Given the description of an element on the screen output the (x, y) to click on. 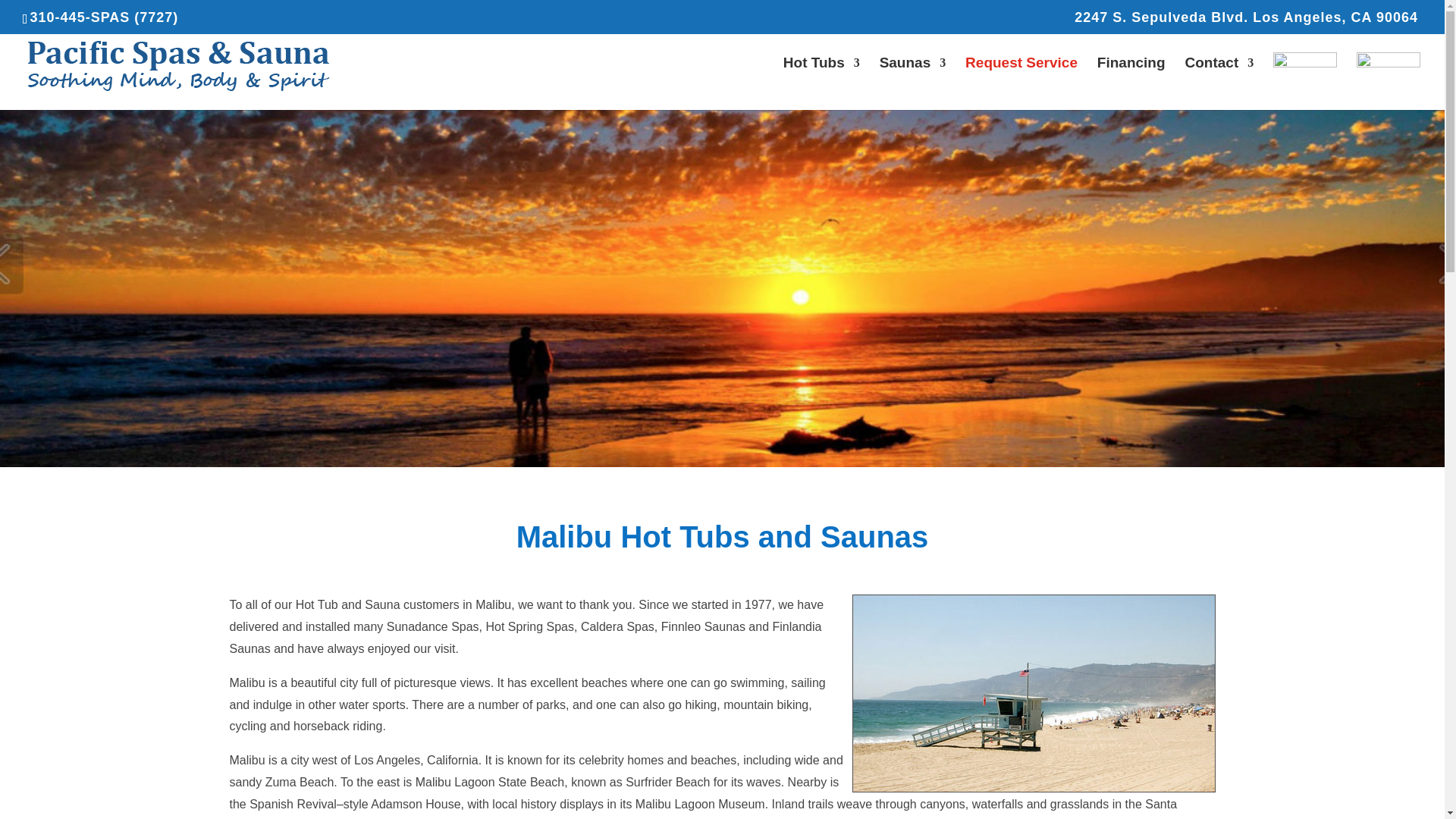
Contact (1219, 76)
Saunas (912, 76)
Request Service (1021, 75)
Financing (1131, 76)
2247 S. Sepulveda Blvd. Los Angeles, CA 90064 (1246, 22)
Hot Tubs (821, 76)
